Given the description of an element on the screen output the (x, y) to click on. 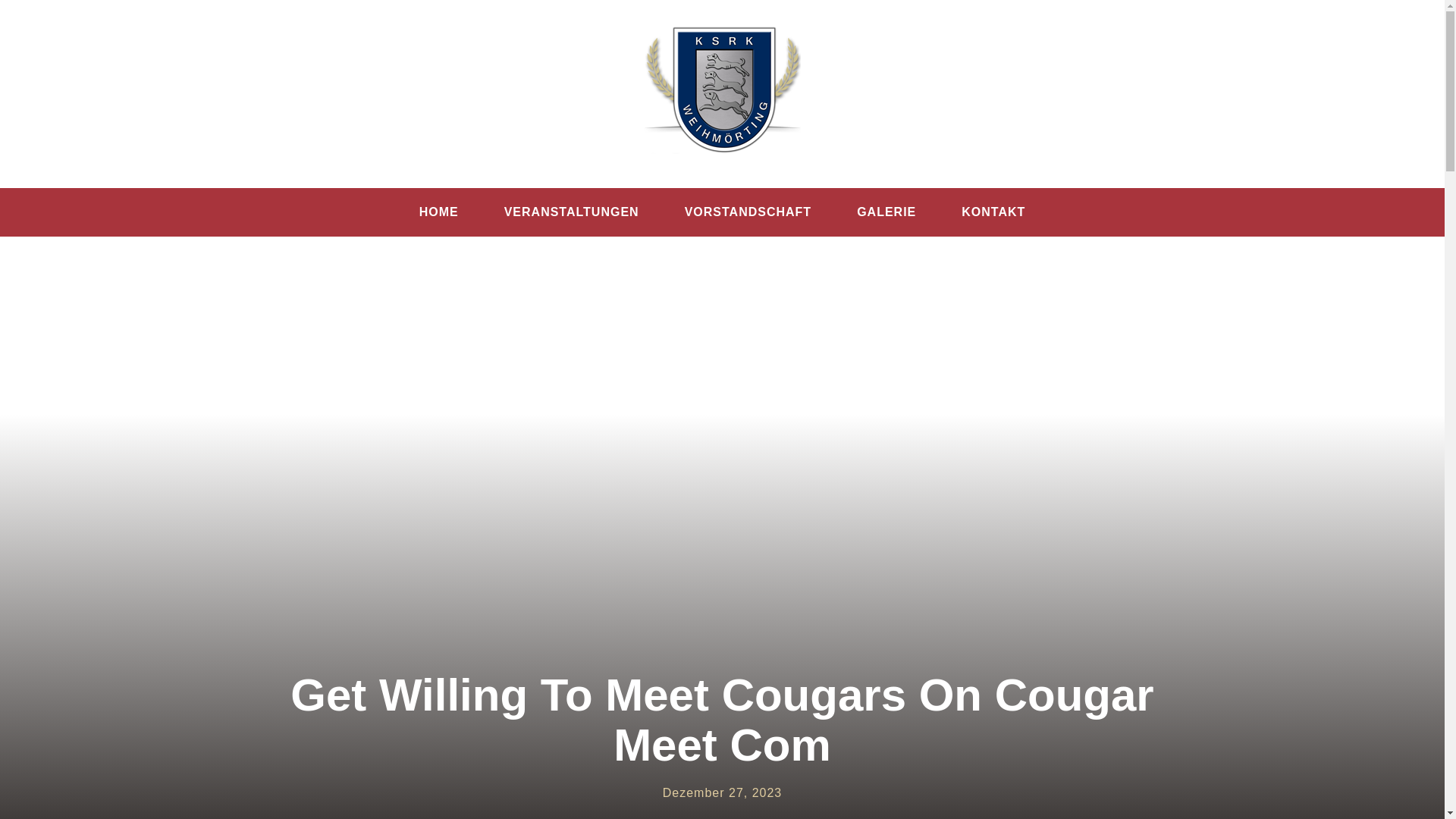
KONTAKT (992, 212)
VERANSTALTUNGEN (571, 212)
VORSTANDSCHAFT (747, 212)
GALERIE (886, 212)
